Given the description of an element on the screen output the (x, y) to click on. 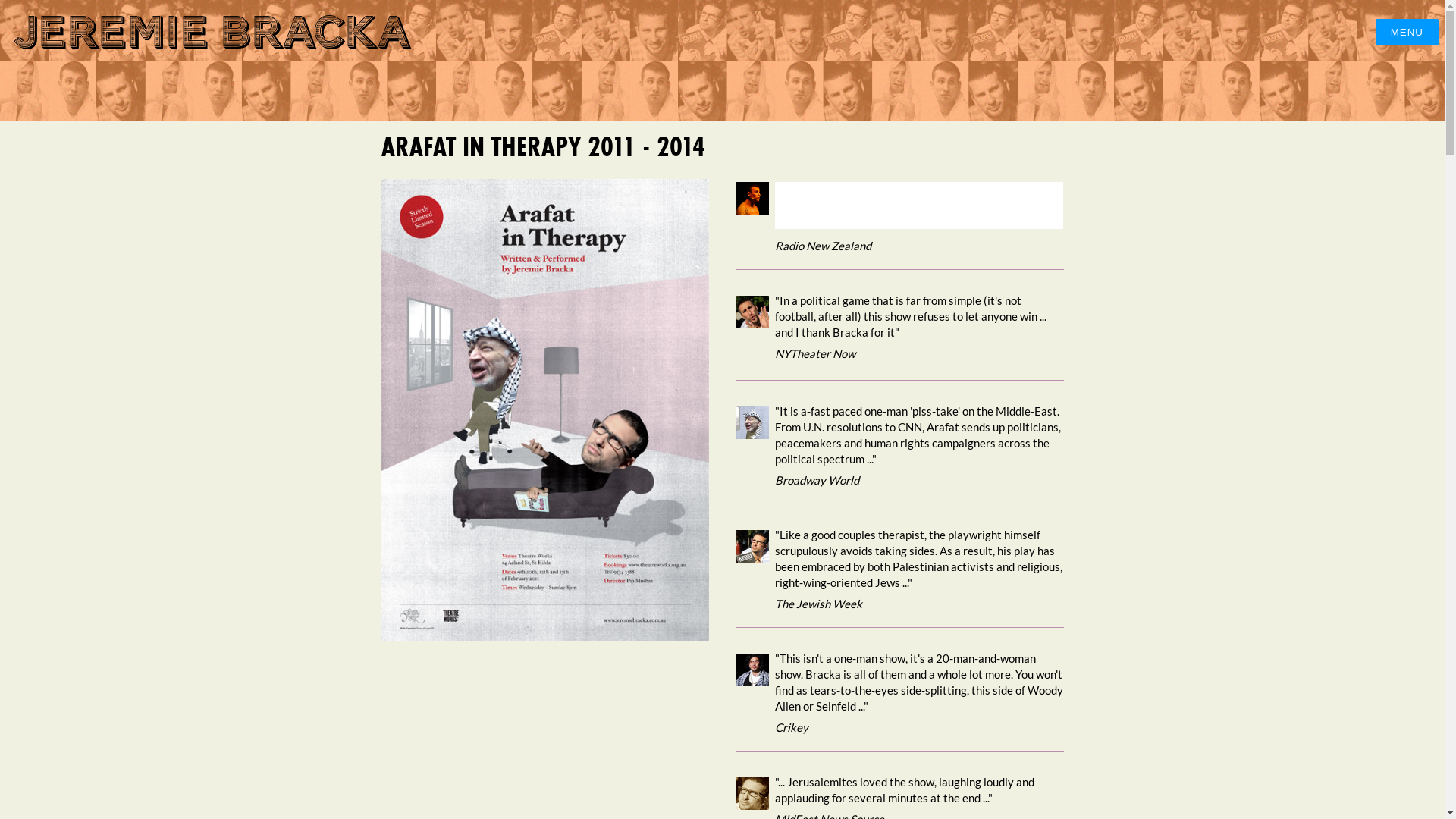
MENU Element type: text (1406, 31)
Radio New Zealand Element type: text (899, 235)
